Given the description of an element on the screen output the (x, y) to click on. 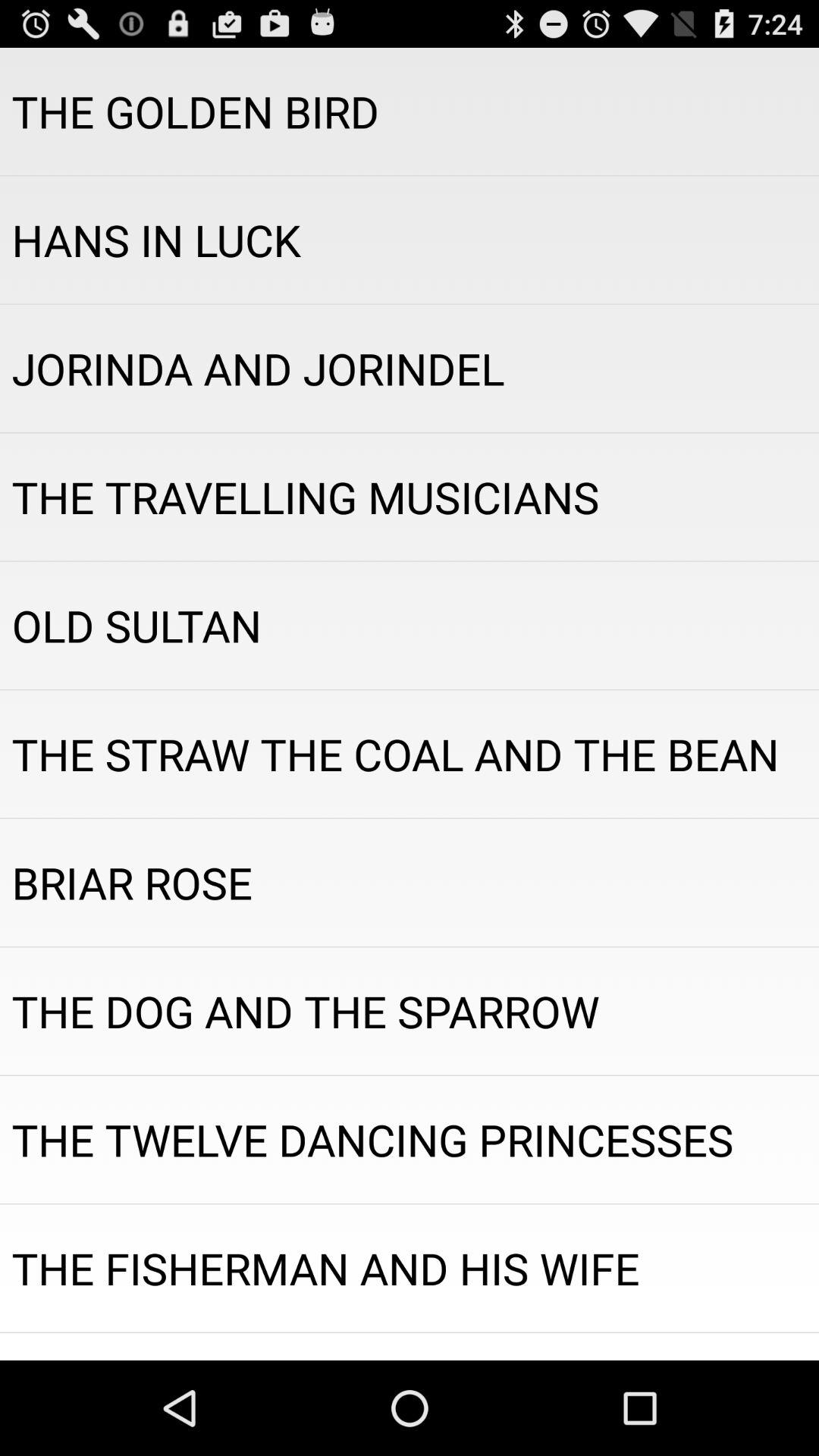
launch the app above the the travelling musicians app (409, 368)
